Given the description of an element on the screen output the (x, y) to click on. 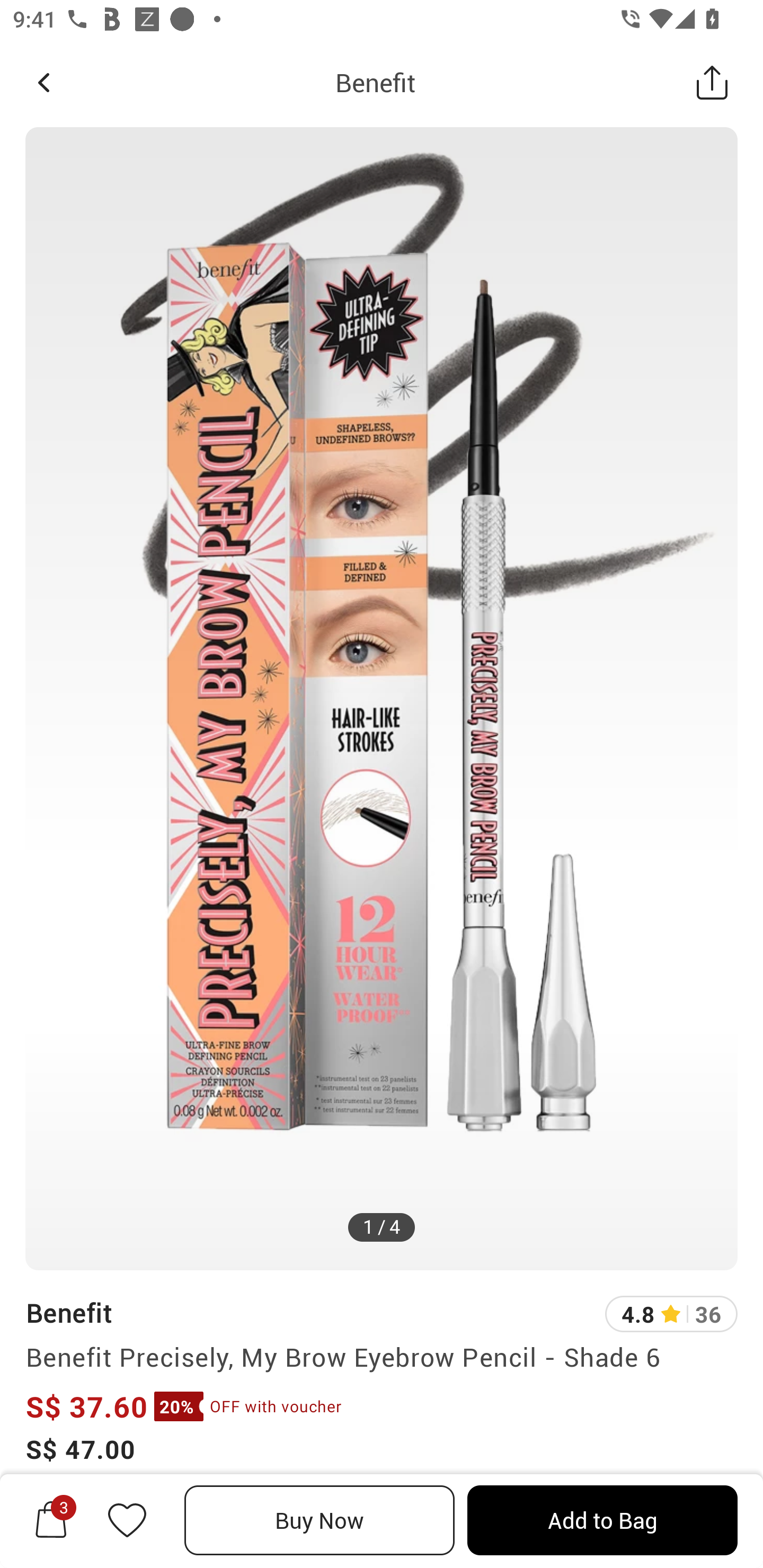
Benefit (375, 82)
Share this Product (711, 82)
Benefit (68, 1312)
4.8 36 (671, 1313)
Buy Now (319, 1519)
Add to Bag (601, 1519)
3 (50, 1520)
